Given the description of an element on the screen output the (x, y) to click on. 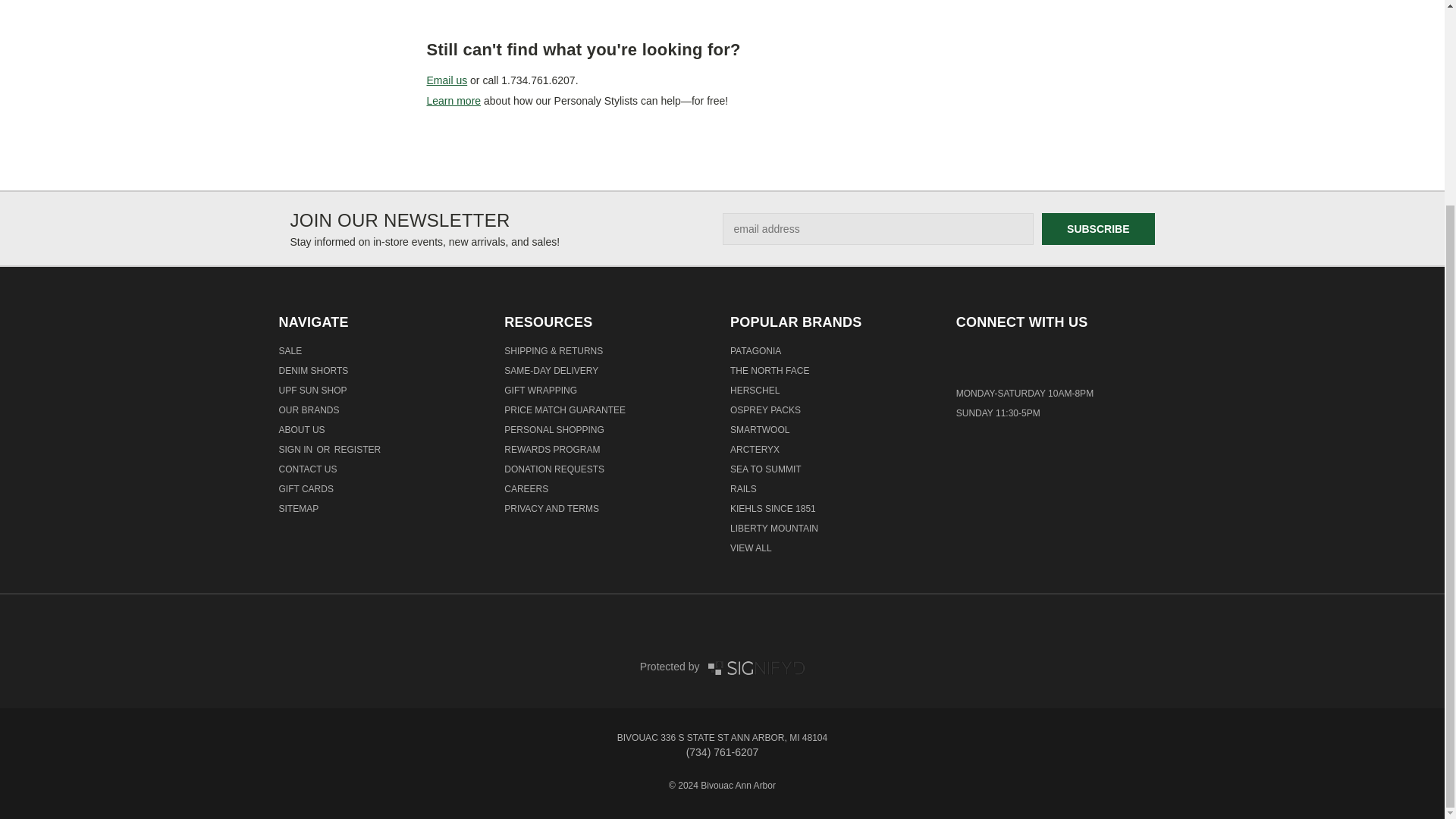
Subscribe (1098, 228)
